Given the description of an element on the screen output the (x, y) to click on. 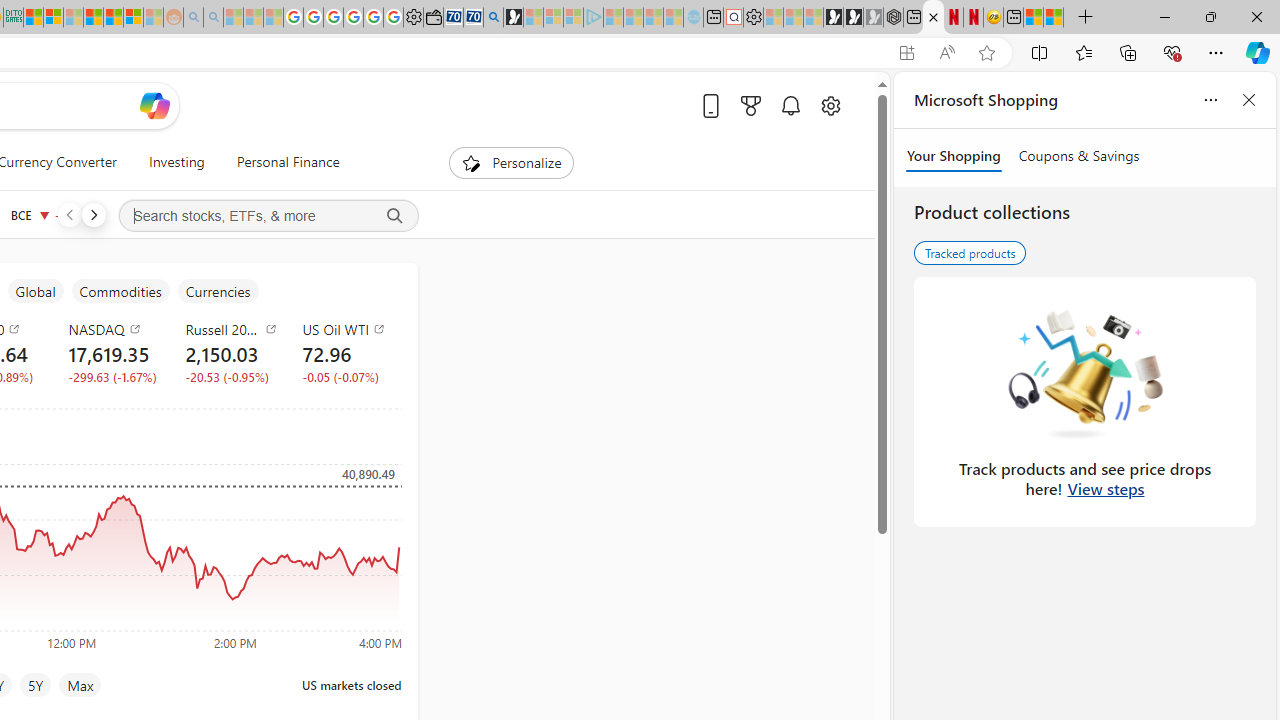
Investing (176, 162)
Search stocks, ETFs, & more (267, 215)
NASDAQ COMP decrease 17,619.35 -299.63 -1.67% (111, 351)
Wallet (432, 17)
US Oil WTI USOIL decrease 72.96 -0.05 -0.07% (345, 351)
Previous (69, 214)
